Given the description of an element on the screen output the (x, y) to click on. 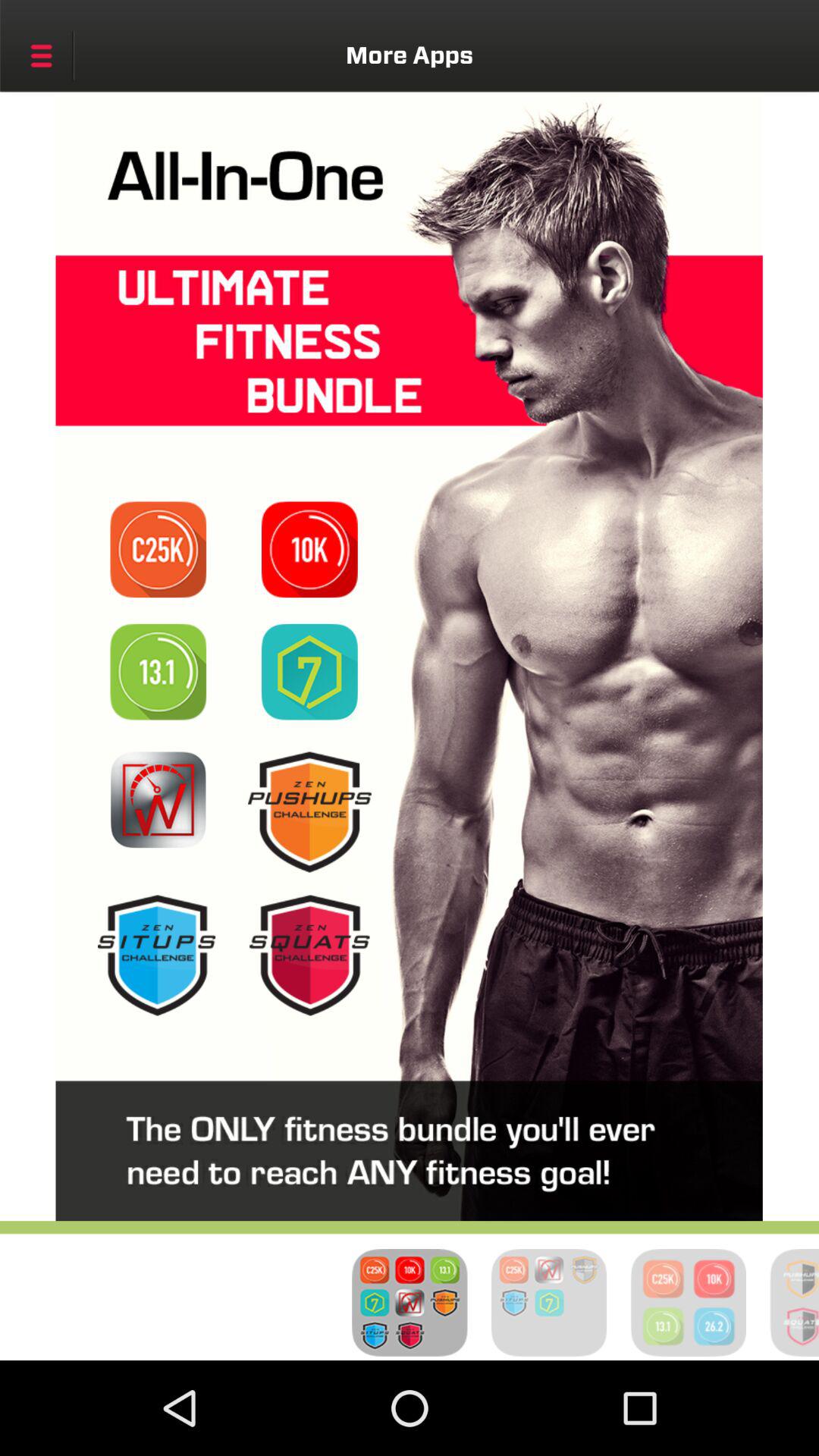
select app (158, 799)
